Given the description of an element on the screen output the (x, y) to click on. 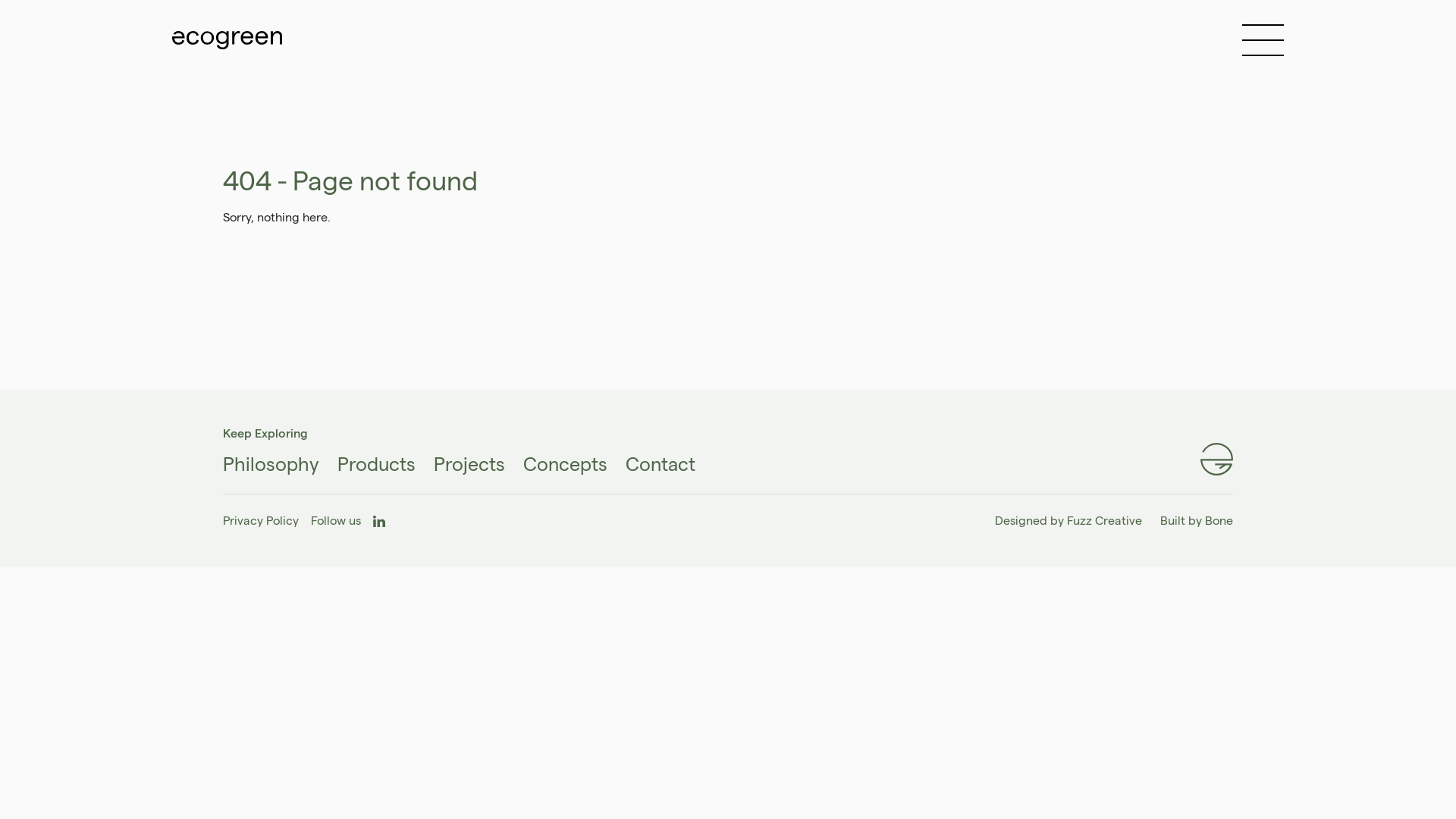
Products Element type: text (376, 463)
Privacy Policy Element type: text (260, 520)
Contact Element type: text (660, 463)
Designed by Fuzz Creative Element type: text (1068, 520)
Philosophy Element type: text (270, 463)
Concepts Element type: text (565, 463)
Projects Element type: text (469, 463)
Built by Bone Element type: text (1196, 520)
